Given the description of an element on the screen output the (x, y) to click on. 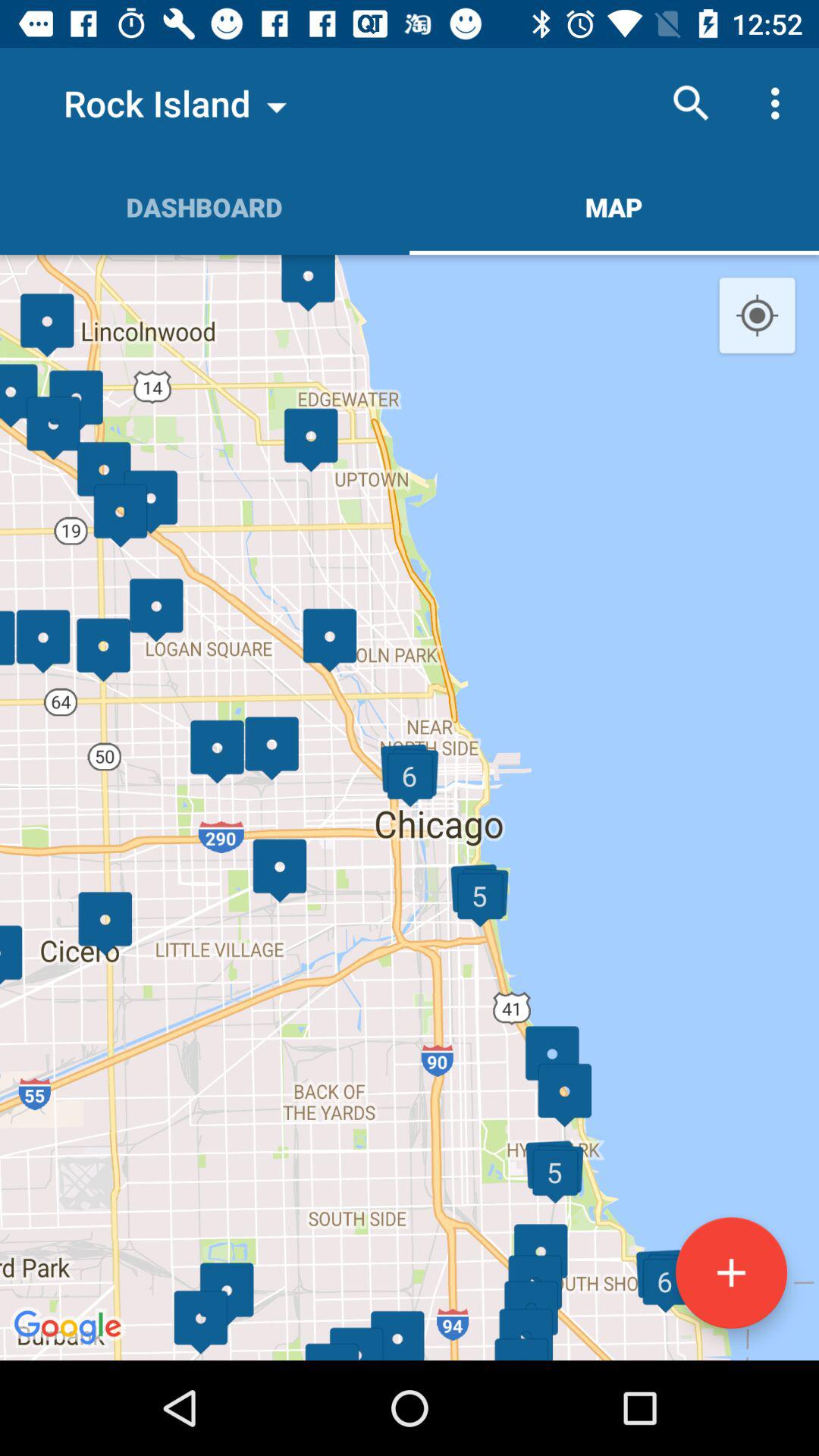
press the icon at the bottom right corner (731, 1272)
